Given the description of an element on the screen output the (x, y) to click on. 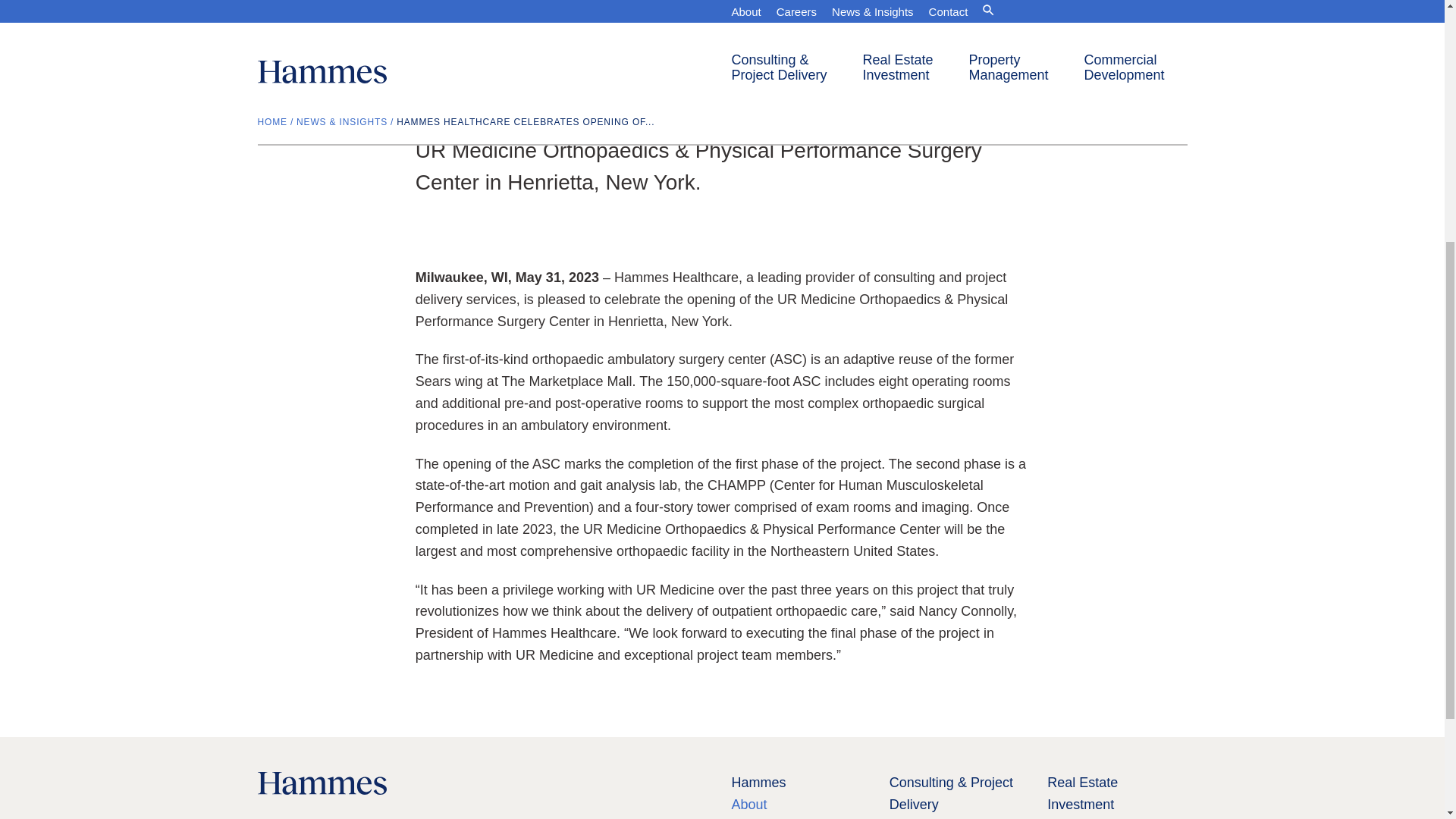
Real Estate Investment (1082, 793)
About (748, 804)
Hammes (758, 782)
